Given the description of an element on the screen output the (x, y) to click on. 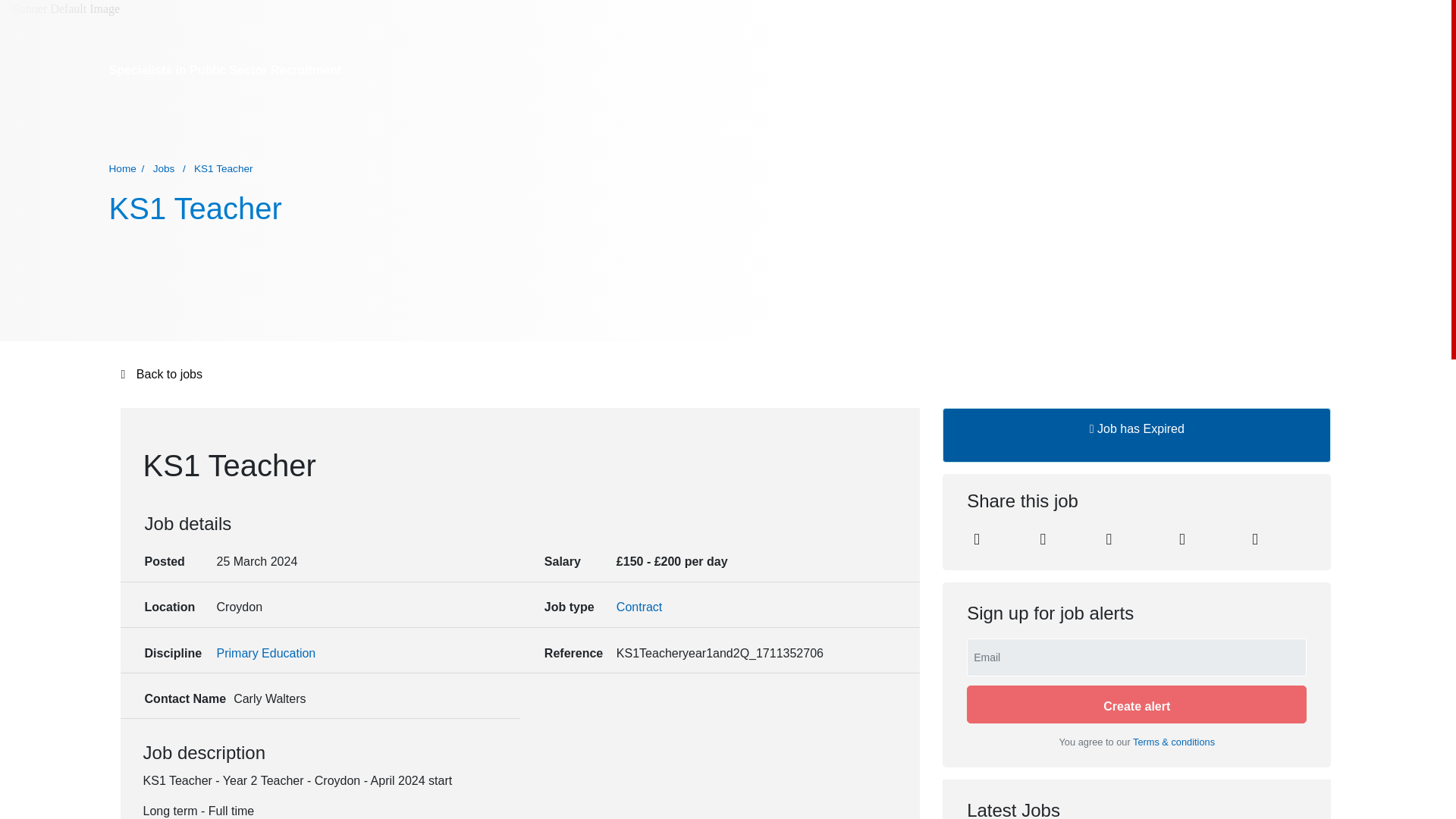
Careers (970, 127)
About Us (721, 127)
020 8418 9441 (1053, 69)
Upload CV (1305, 127)
Our Sectors (791, 127)
Latest Jobs (866, 127)
Go to the Homepage (184, 128)
Clients (922, 127)
Policies (1249, 127)
Timesheets (1028, 127)
